Given the description of an element on the screen output the (x, y) to click on. 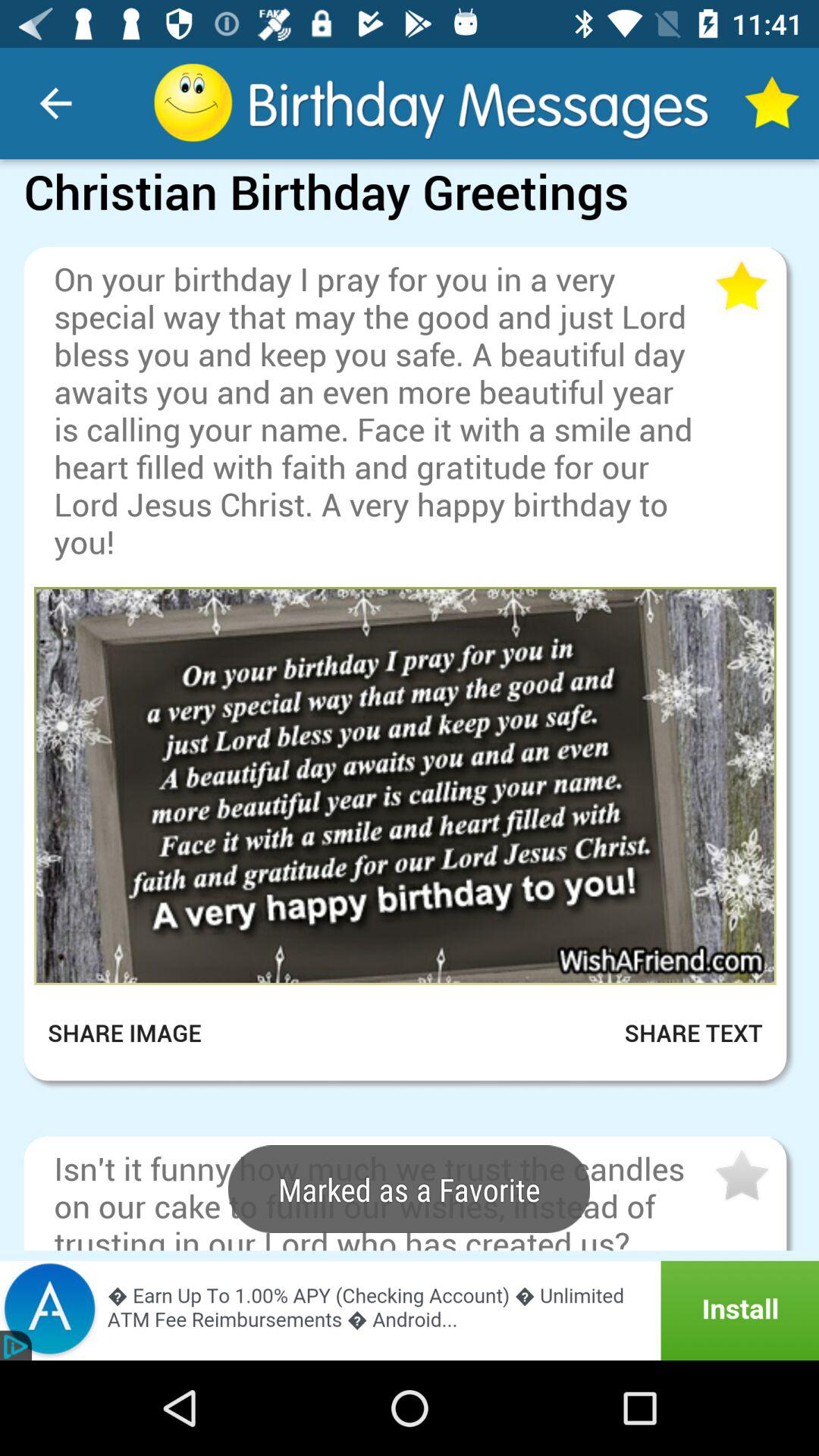
go to favourite (740, 1176)
